Given the description of an element on the screen output the (x, y) to click on. 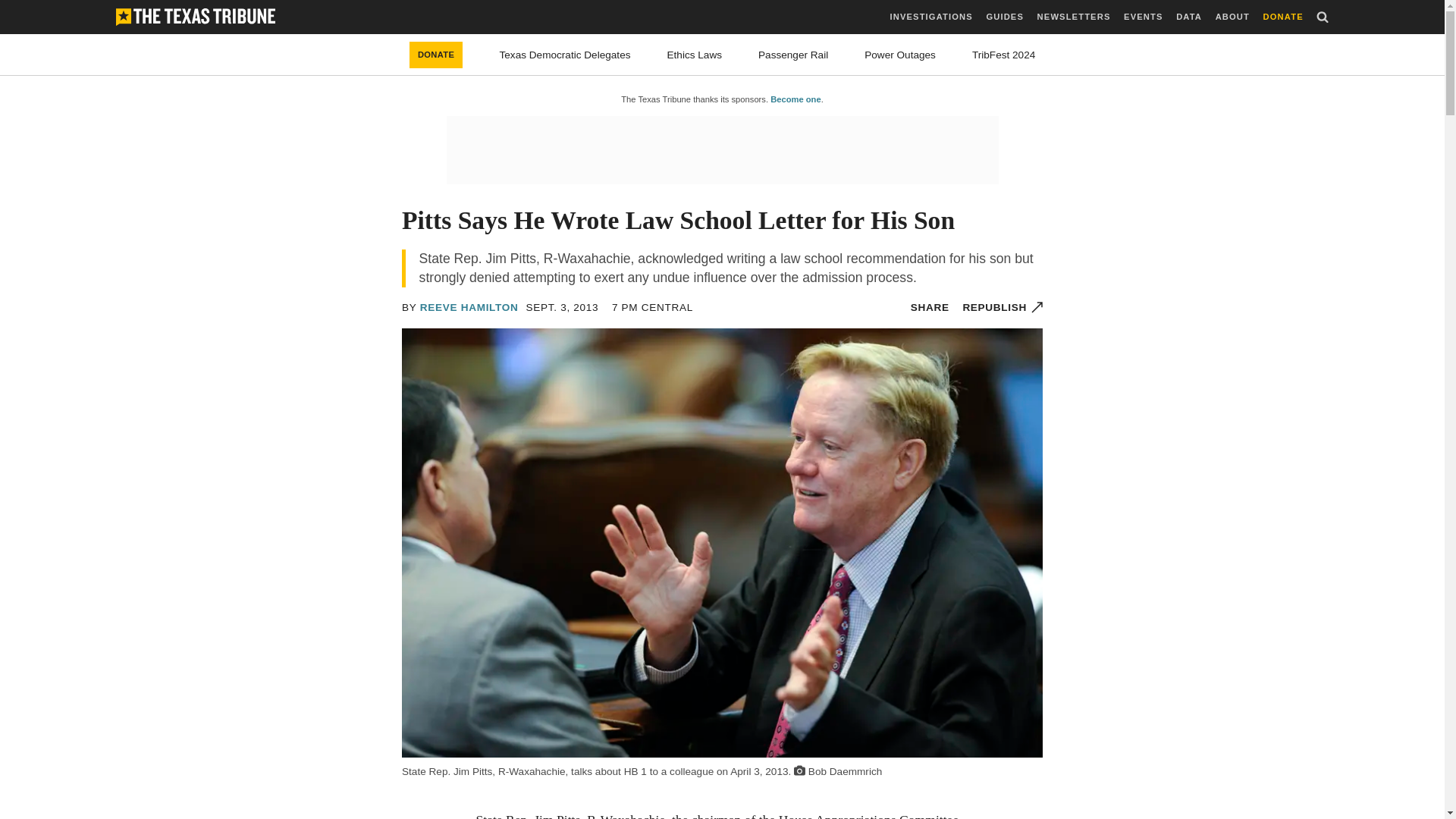
INVESTIGATIONS (930, 17)
Passenger Rail (793, 54)
DONATE (436, 54)
REEVE HAMILTON (469, 307)
2013-09-03 19:19 CDT (561, 307)
3rd party ad content (721, 150)
Texas Democratic Delegates (564, 54)
2013-09-03 19:19 CDT (652, 307)
NEWSLETTERS (1073, 17)
GUIDES (1004, 17)
TribFest 2024 (1003, 54)
Become one (795, 99)
Ethics Laws (694, 54)
REPUBLISH (1002, 307)
ABOUT (1232, 17)
